Given the description of an element on the screen output the (x, y) to click on. 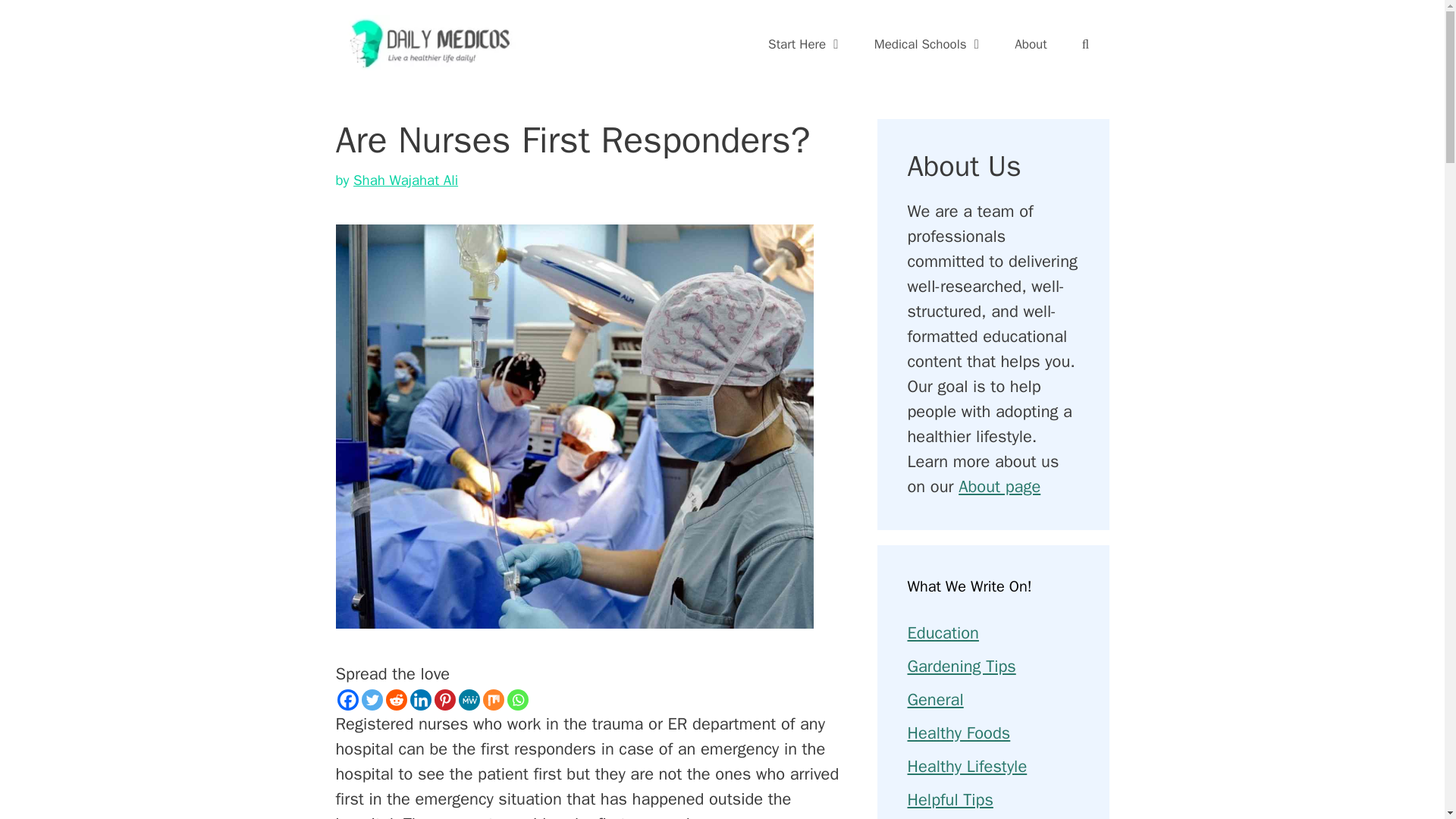
Linkedin (419, 699)
Education (942, 632)
Pinterest (443, 699)
Start Here (805, 43)
Gardening Tips (960, 666)
Whatsapp (516, 699)
Twitter (371, 699)
Medical Schools (928, 43)
View all posts by Shah Wajahat Ali (405, 180)
Helpful Tips (949, 799)
